Given the description of an element on the screen output the (x, y) to click on. 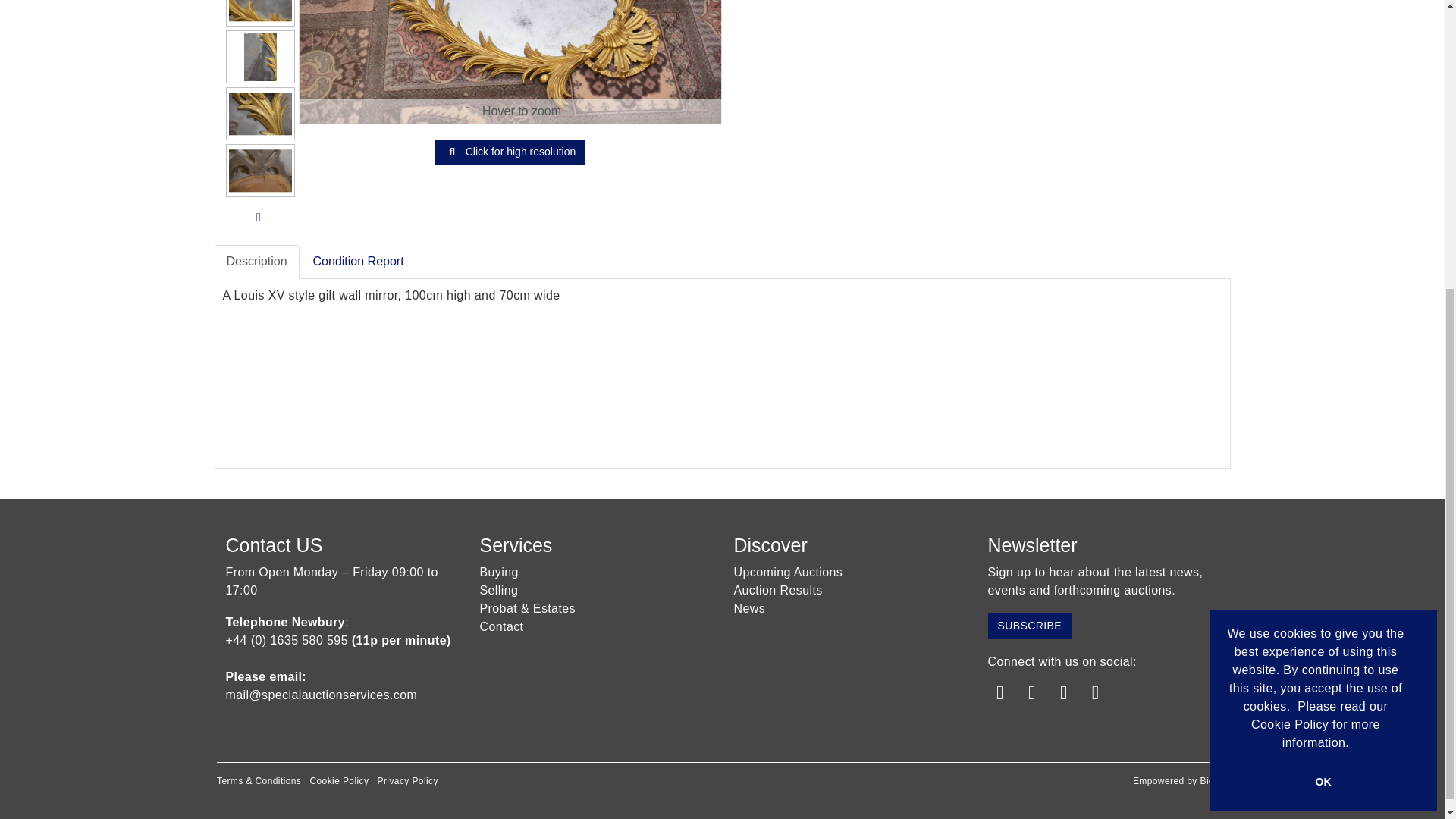
Click for high resolution (510, 152)
